Given the description of an element on the screen output the (x, y) to click on. 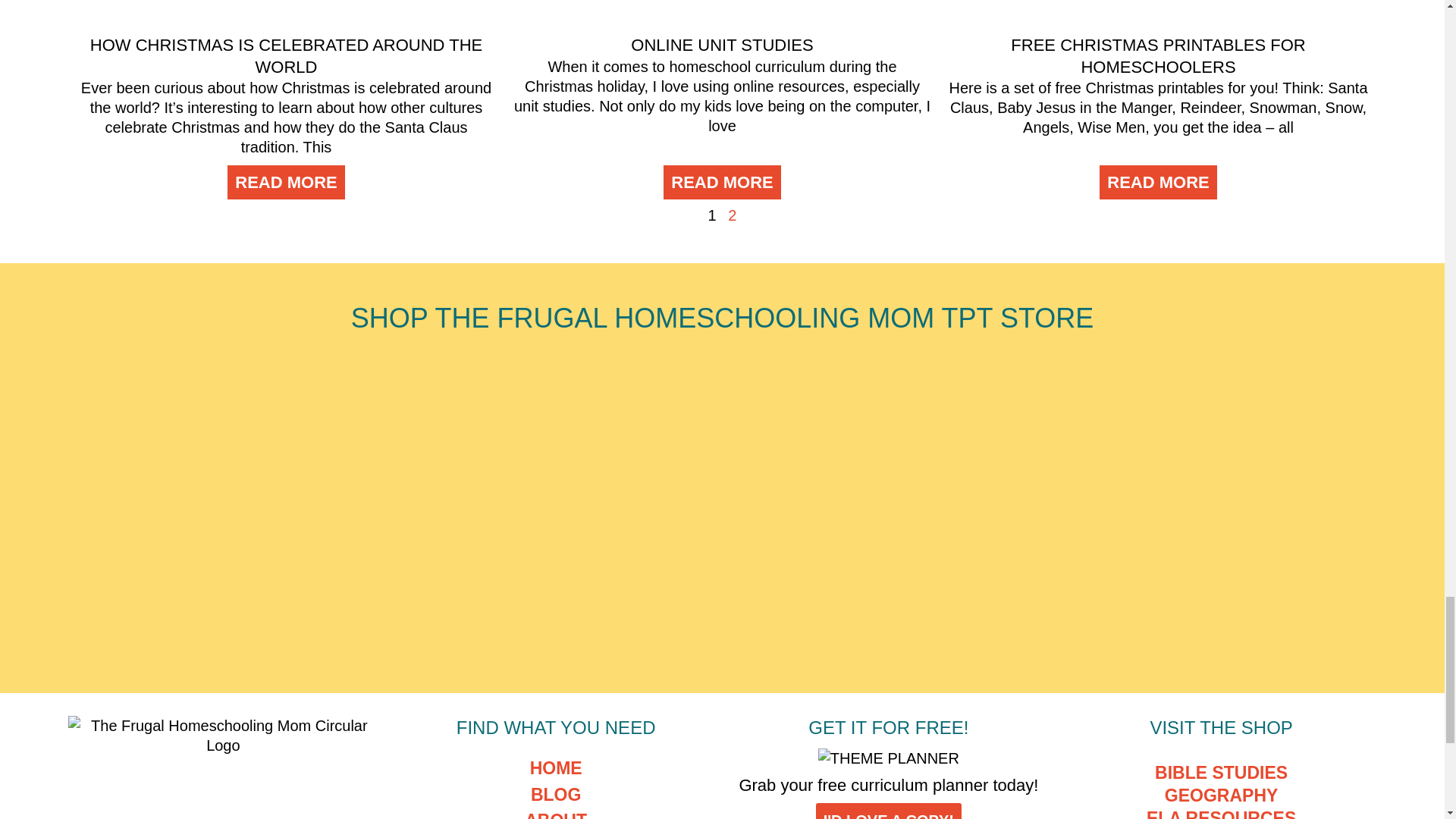
READ MORE (285, 182)
THEME PLANNER (888, 758)
HOW CHRISTMAS IS CELEBRATED AROUND THE WORLD (285, 56)
